Given the description of an element on the screen output the (x, y) to click on. 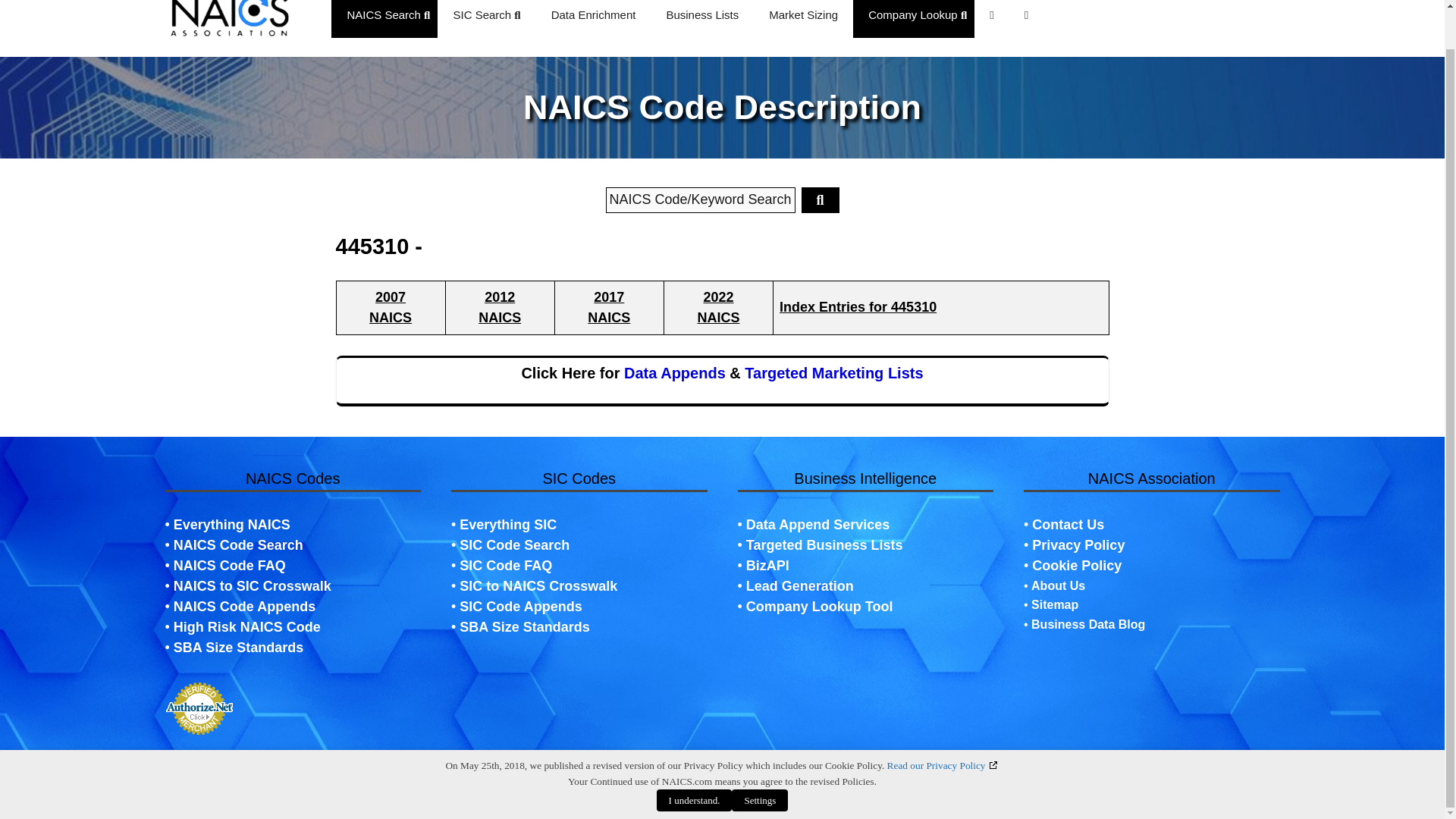
SIC Code Appends (520, 606)
Targeted Business Lists (823, 544)
Data Append Services (674, 372)
NAICS Code Appends (244, 606)
Company Lookup (917, 18)
NAICS Search (388, 18)
NAICS Code FAQ (229, 565)
Targeted Business Lists (833, 372)
SBA Size Standards (237, 647)
SIC Search (486, 18)
Market Sizing (803, 18)
Business Lists (702, 18)
Everything NAICS (231, 524)
Data Append Services (817, 524)
Everything SIC (508, 524)
